Given the description of an element on the screen output the (x, y) to click on. 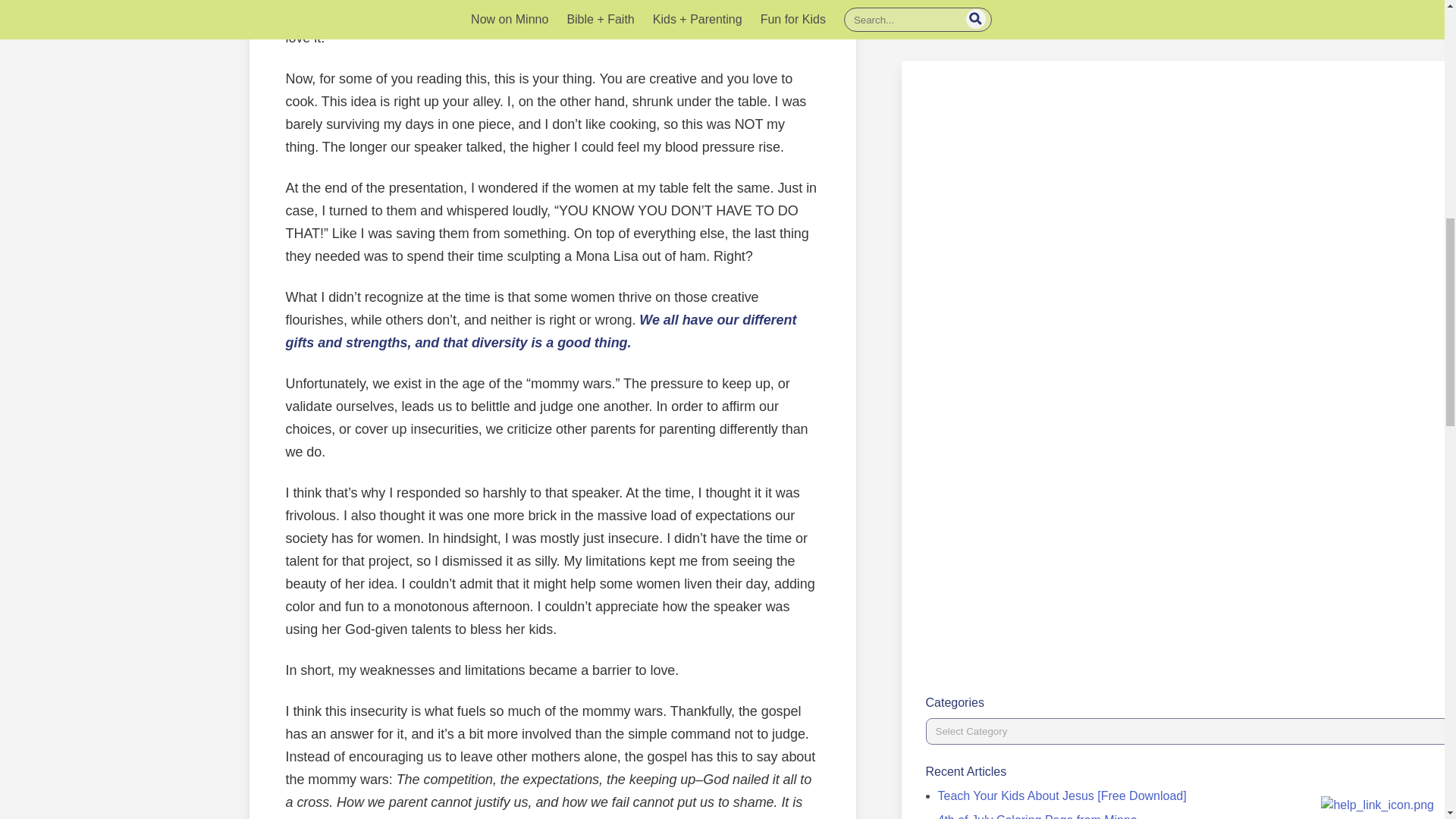
4th of July Coloring Page from Minno (1037, 58)
How to Talk to Your Kids About Independence Day (1072, 82)
